Given the description of an element on the screen output the (x, y) to click on. 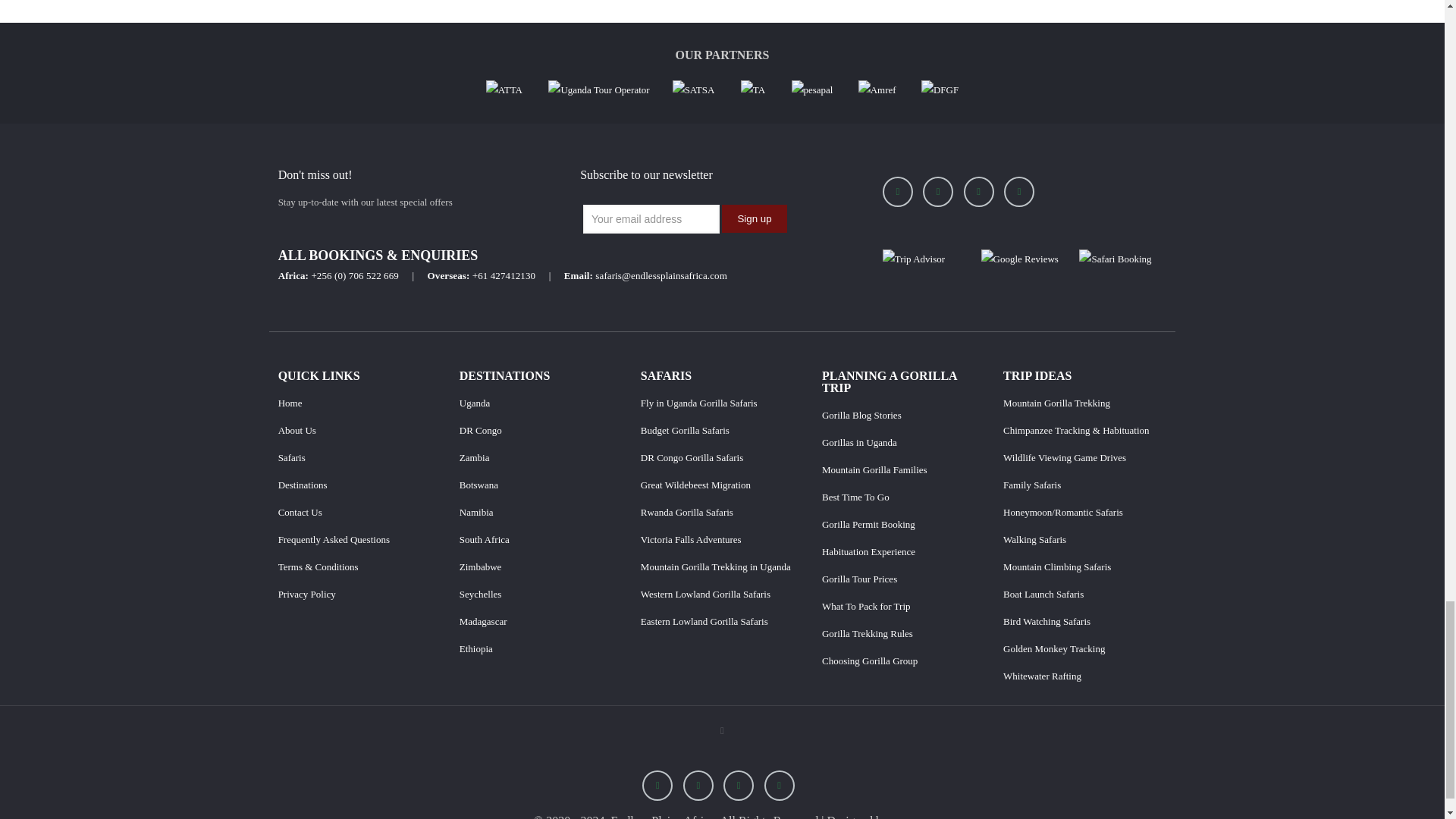
AMREF (878, 89)
Diana Fossey Gorilla Fund (939, 89)
pesapal (813, 89)
Tourism Australia (753, 89)
Southern Africa Tourism Services Association (693, 89)
Safari Booking (1114, 259)
Association of Uganda Tour Operators (598, 89)
Trip Advisor (913, 259)
Google Reviews (1019, 259)
Sign up (754, 218)
